Given the description of an element on the screen output the (x, y) to click on. 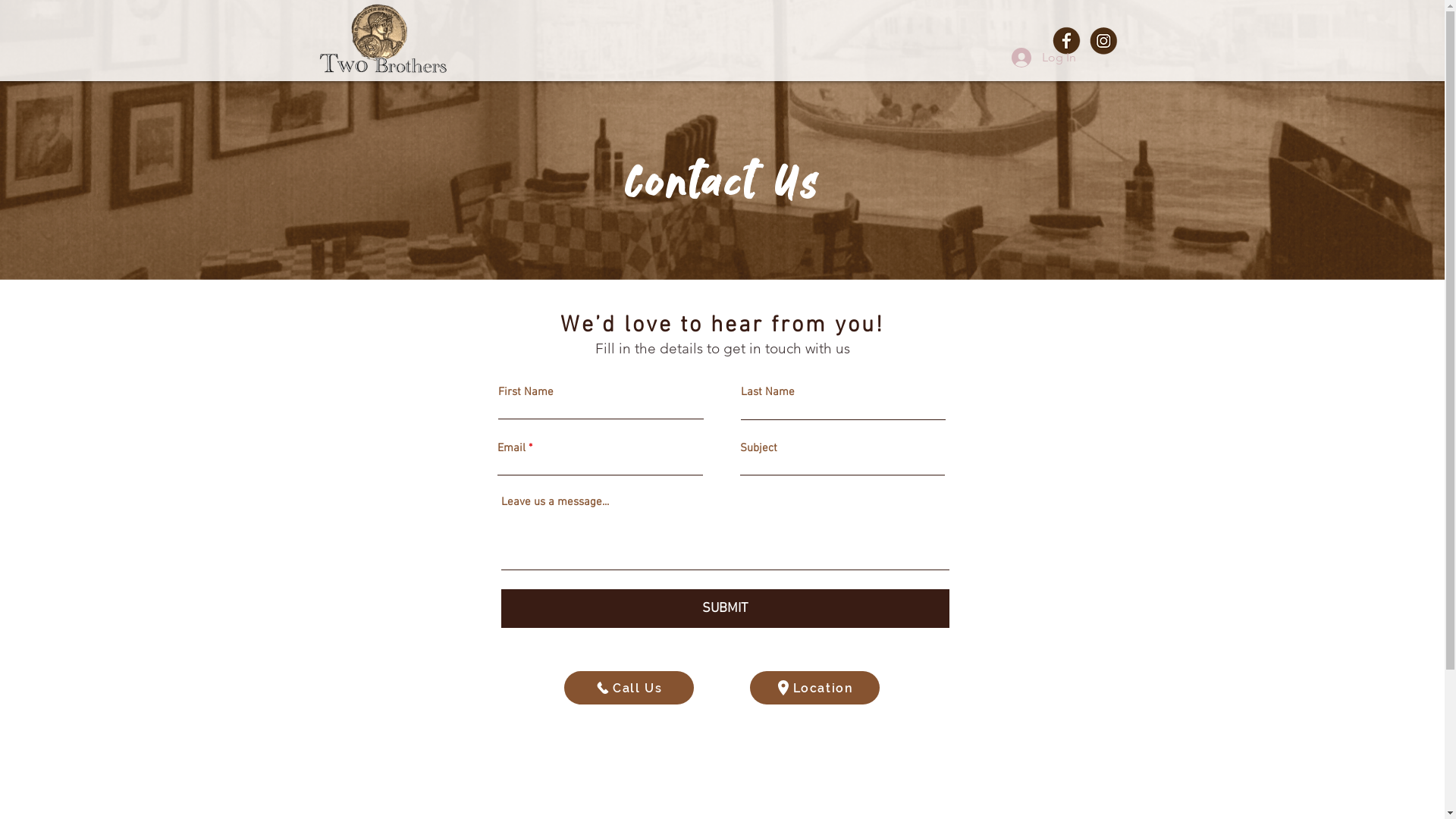
SUBMIT Element type: text (724, 608)
Log In Element type: text (1043, 57)
Location Element type: text (813, 687)
Call Us Element type: text (628, 687)
